Given the description of an element on the screen output the (x, y) to click on. 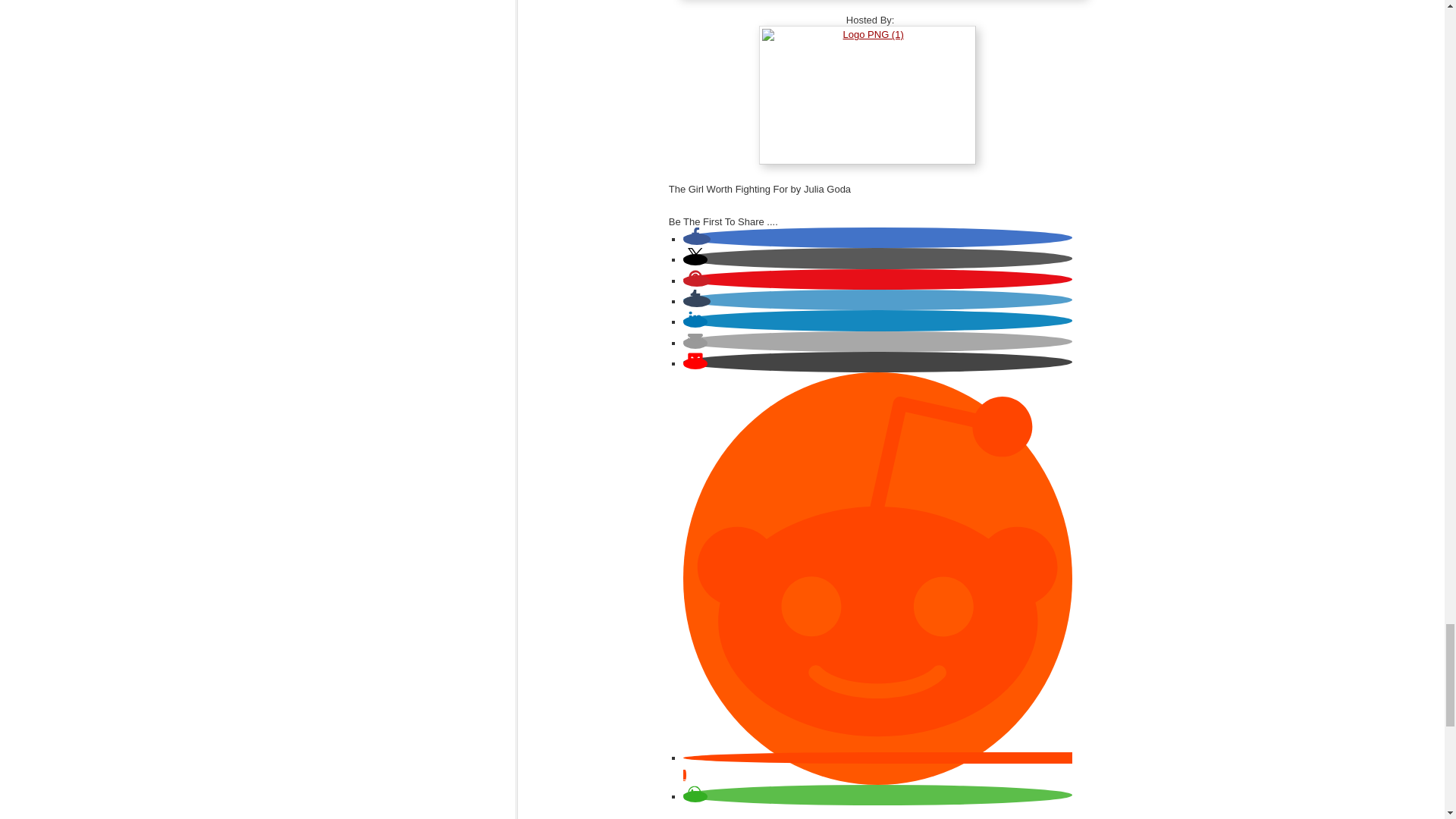
Share on Facebook (696, 238)
Share on Whatsapp (694, 796)
Pin it on Pinterest (696, 280)
Share on LinkedIn (694, 321)
Share on Reddit (876, 766)
Share on X (694, 259)
Send by email (694, 342)
Share on tumblr (696, 301)
Save to Pocket (694, 363)
